Given the description of an element on the screen output the (x, y) to click on. 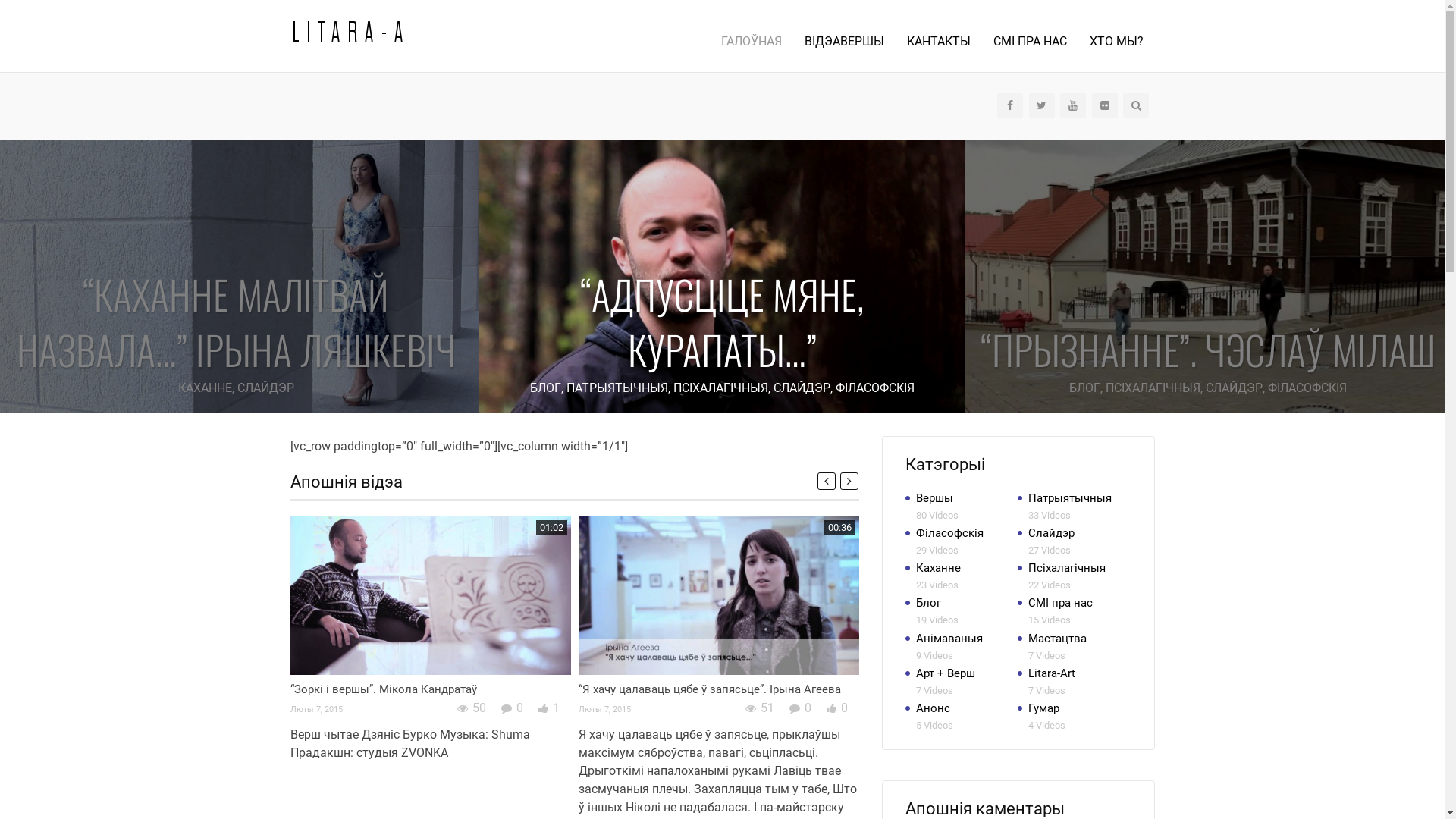
Litara-Art Element type: text (1051, 673)
litara-a | litara-a Element type: hover (346, 29)
